Given the description of an element on the screen output the (x, y) to click on. 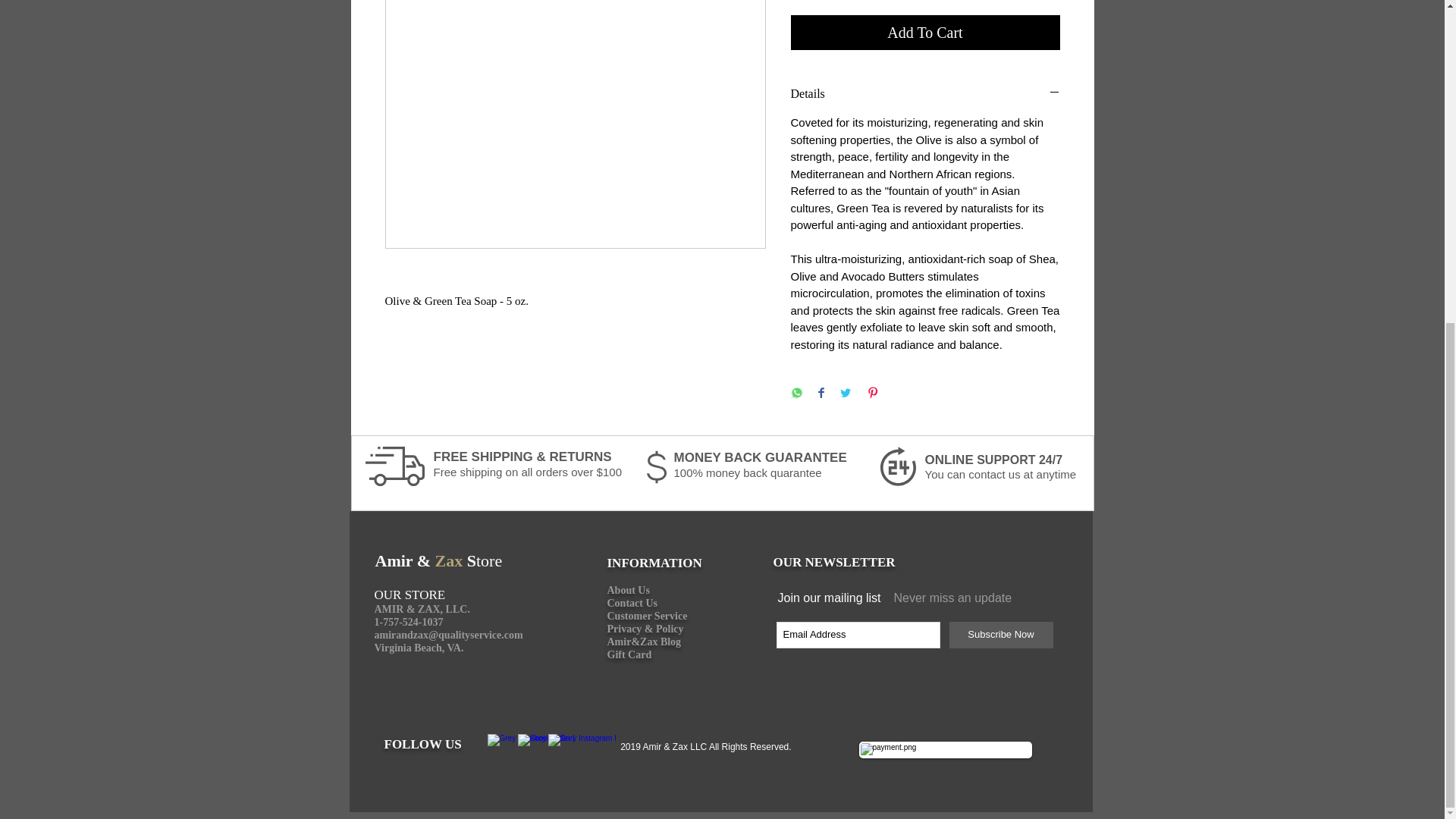
Contact Us (632, 603)
1-757-524-1037 (409, 621)
About Us (628, 589)
Gift Card (628, 654)
Add To Cart (924, 32)
Details (924, 93)
Customer Service (647, 615)
Subscribe Now (1000, 634)
